Given the description of an element on the screen output the (x, y) to click on. 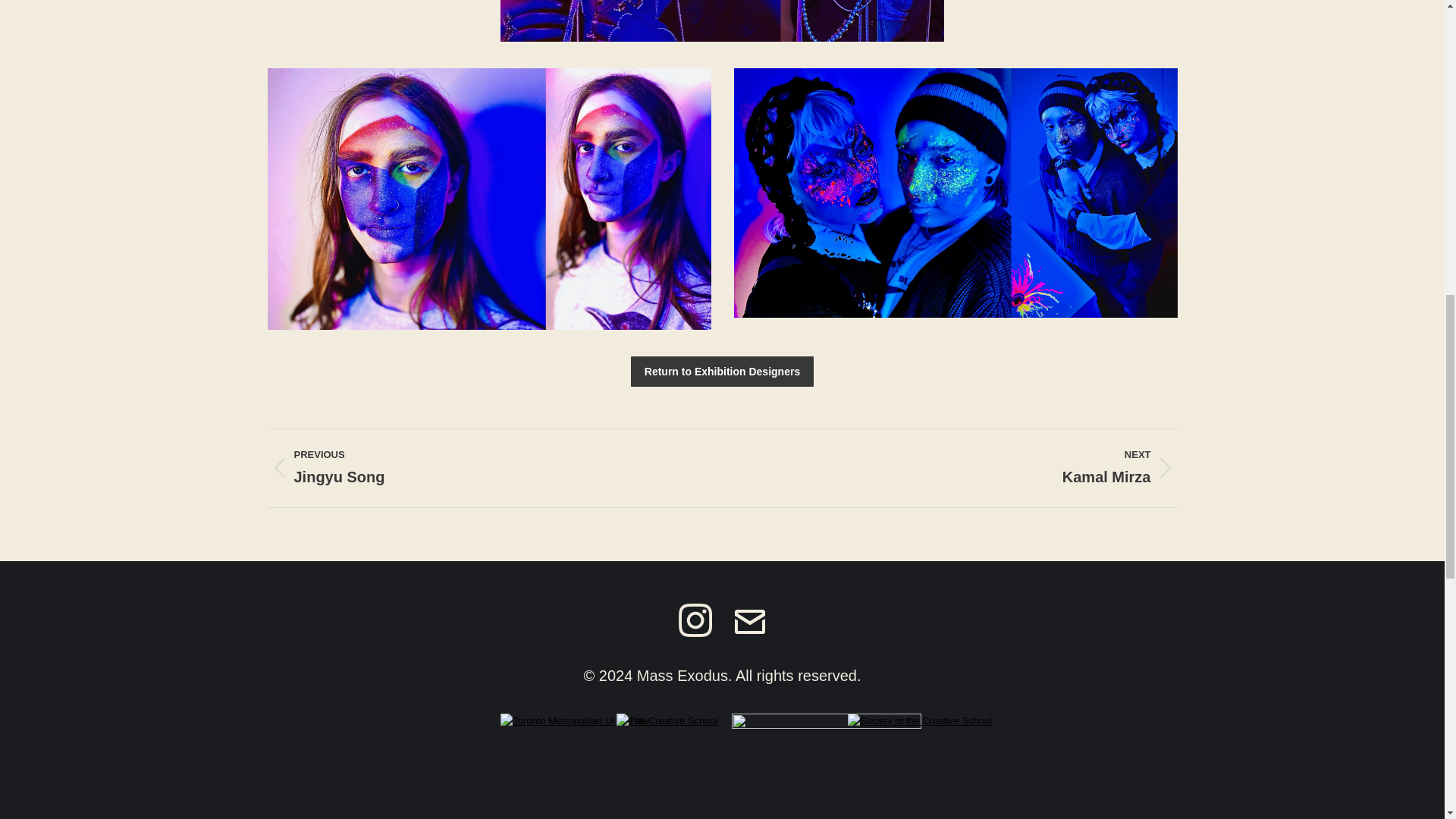
Exhibition Designers (721, 371)
